Given the description of an element on the screen output the (x, y) to click on. 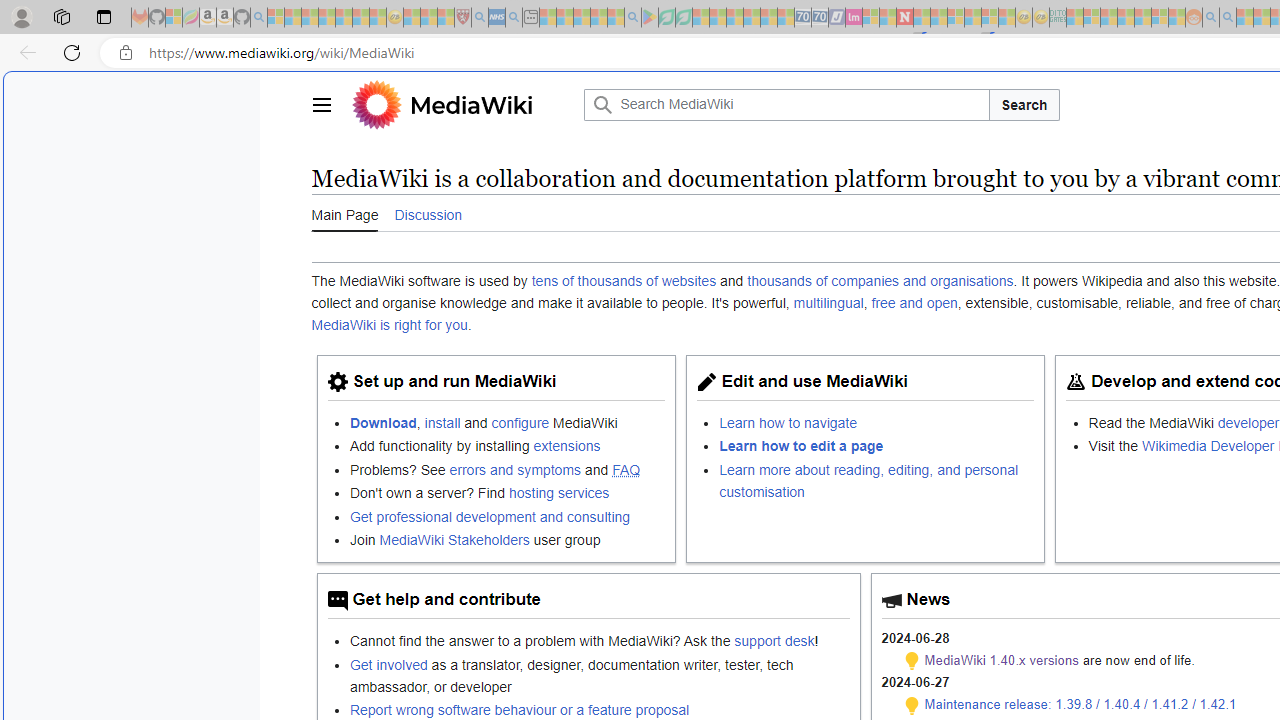
MediaWiki Stakeholders (453, 539)
MediaWiki 1.40.x versions (1001, 660)
Download, install and configure MediaWiki (507, 422)
